Given the description of an element on the screen output the (x, y) to click on. 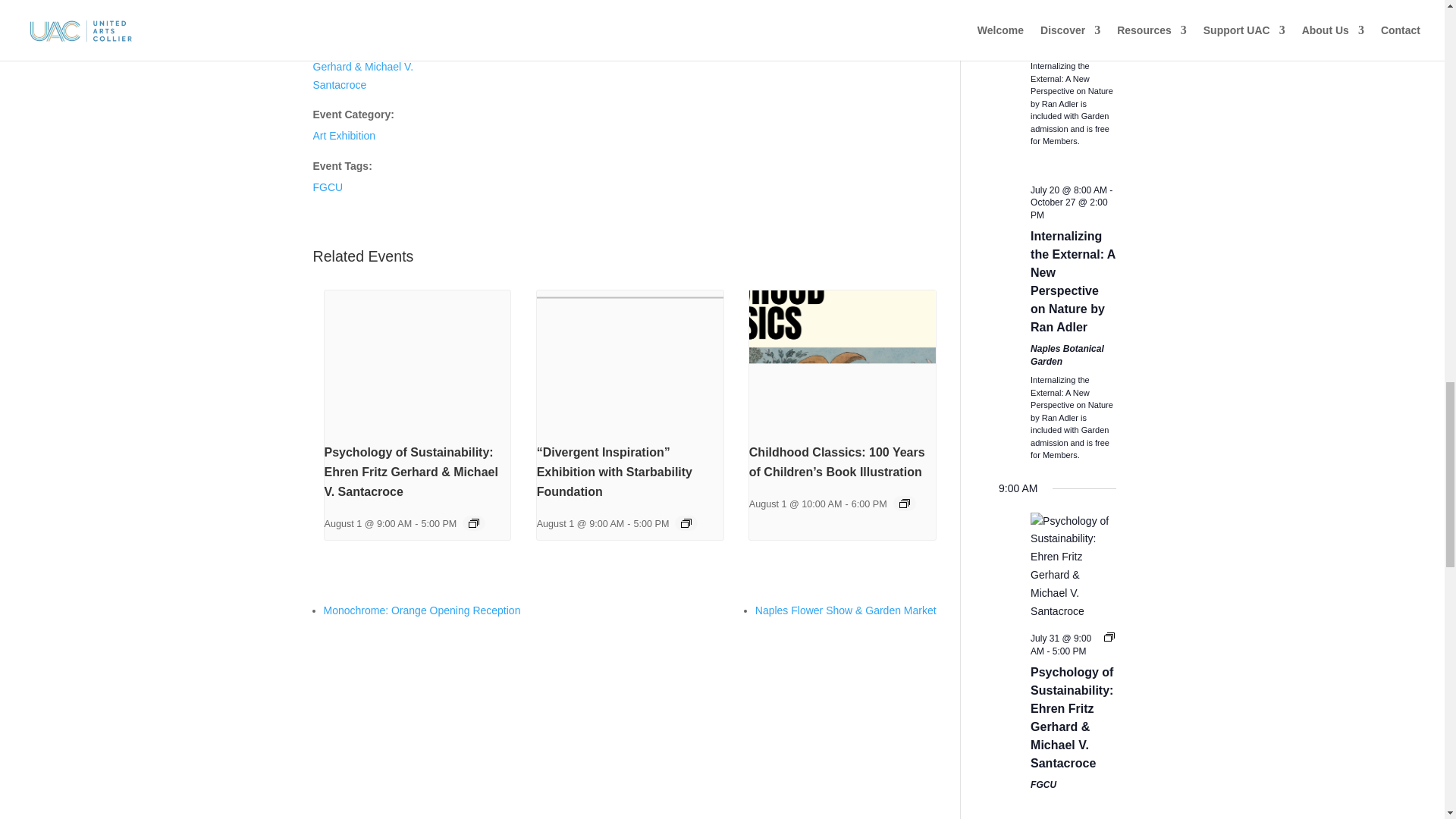
Event Series (473, 522)
Google maps iframe displaying the address to FGCU (828, 12)
Event Series (904, 502)
Event Series (1109, 636)
Event Series (686, 522)
